Given the description of an element on the screen output the (x, y) to click on. 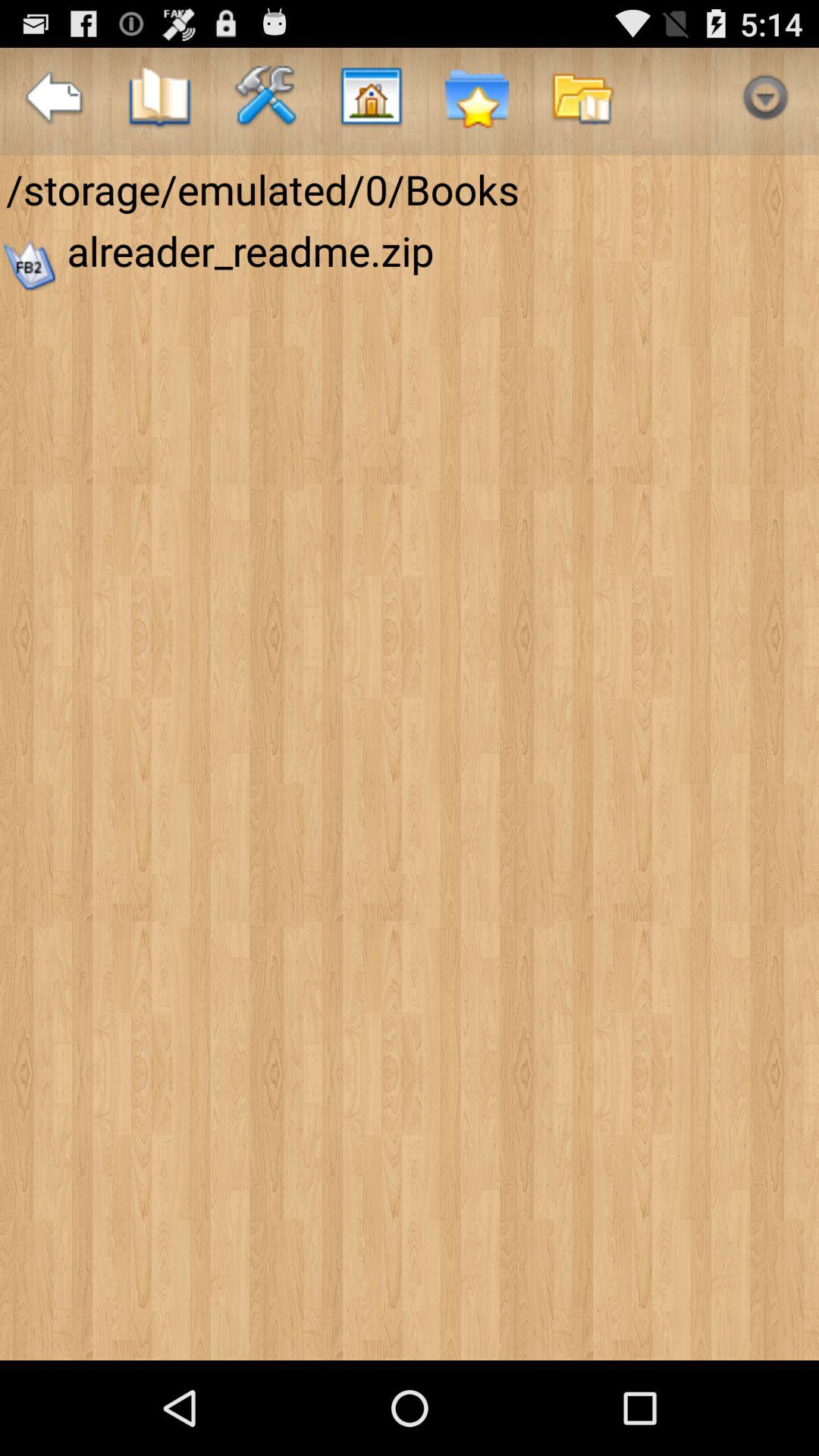
select item above storage emulated 0 icon (765, 101)
